Given the description of an element on the screen output the (x, y) to click on. 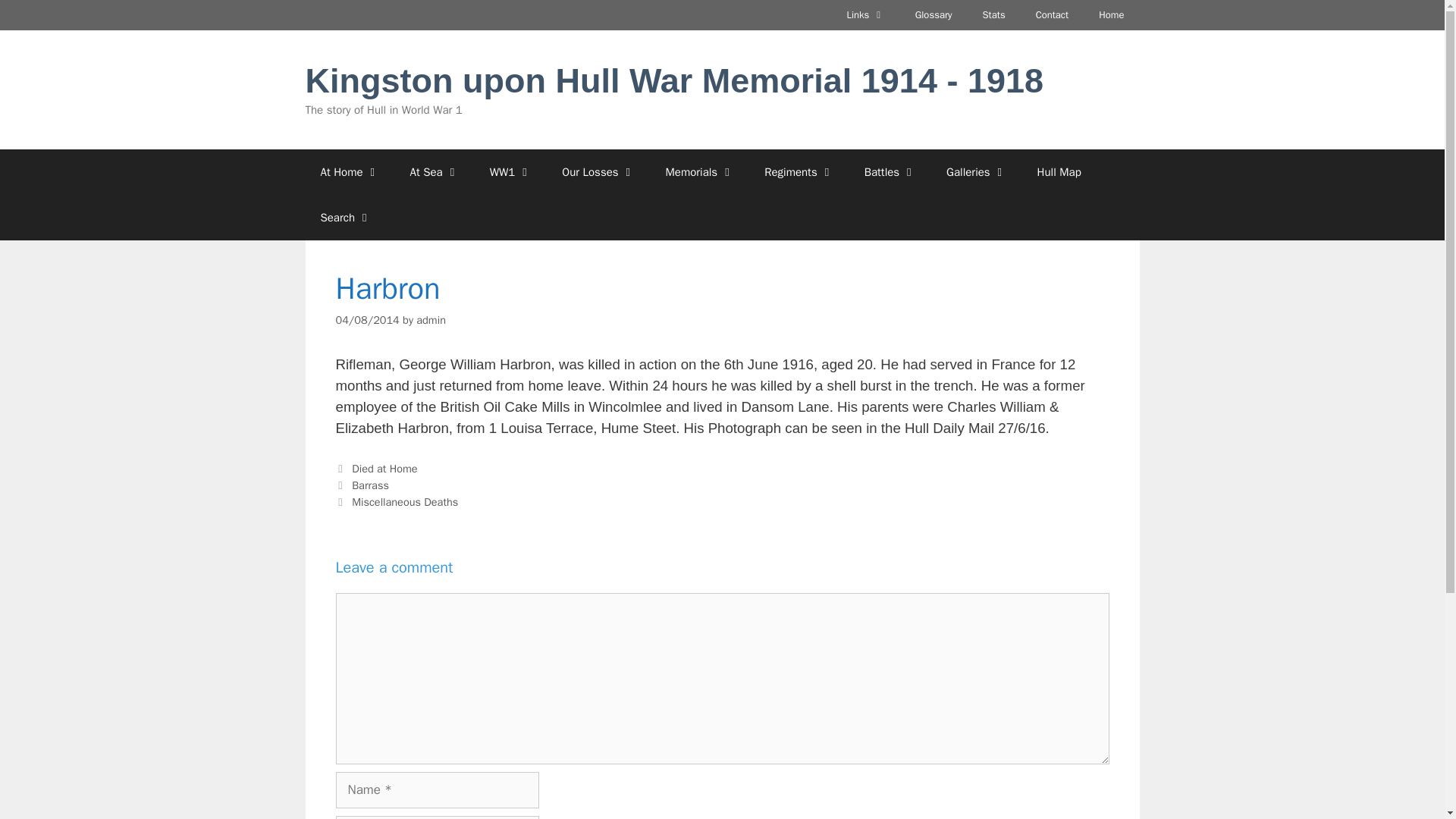
Contact (1052, 15)
Next (396, 501)
3:46 pm (366, 319)
WW1 (510, 171)
Glossary (933, 15)
Previous (361, 485)
Home (1110, 15)
Stats (994, 15)
